Given the description of an element on the screen output the (x, y) to click on. 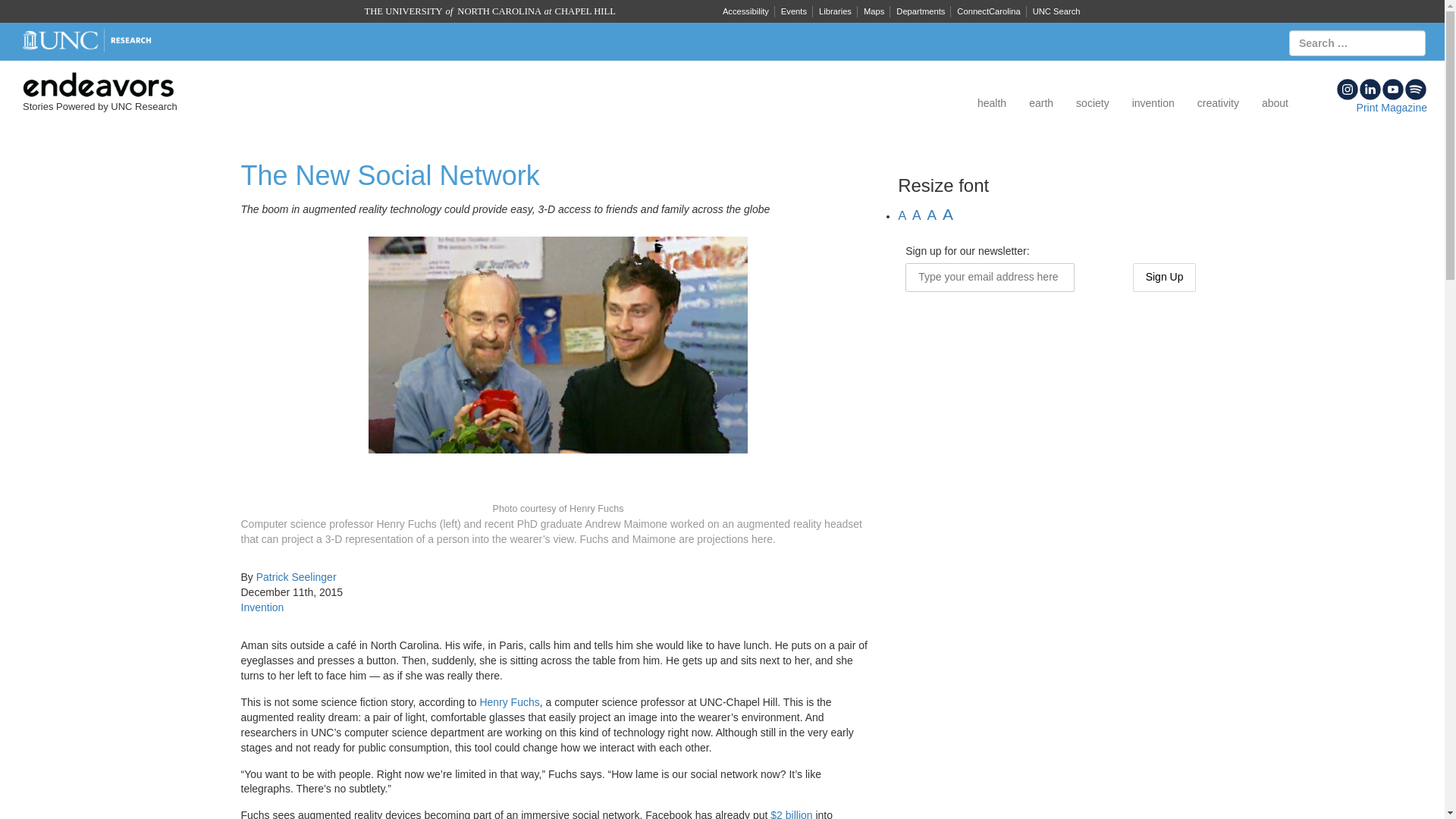
Henry Fuchs (508, 702)
Departments (919, 11)
earth (1040, 103)
A (901, 215)
Libraries (834, 11)
invention (1153, 103)
UNC Search (1056, 11)
A (932, 214)
Accessibility (745, 11)
Events (793, 11)
earth (1040, 103)
Sign Up (1164, 276)
about (1275, 103)
Print Magazine (1391, 107)
